Given the description of an element on the screen output the (x, y) to click on. 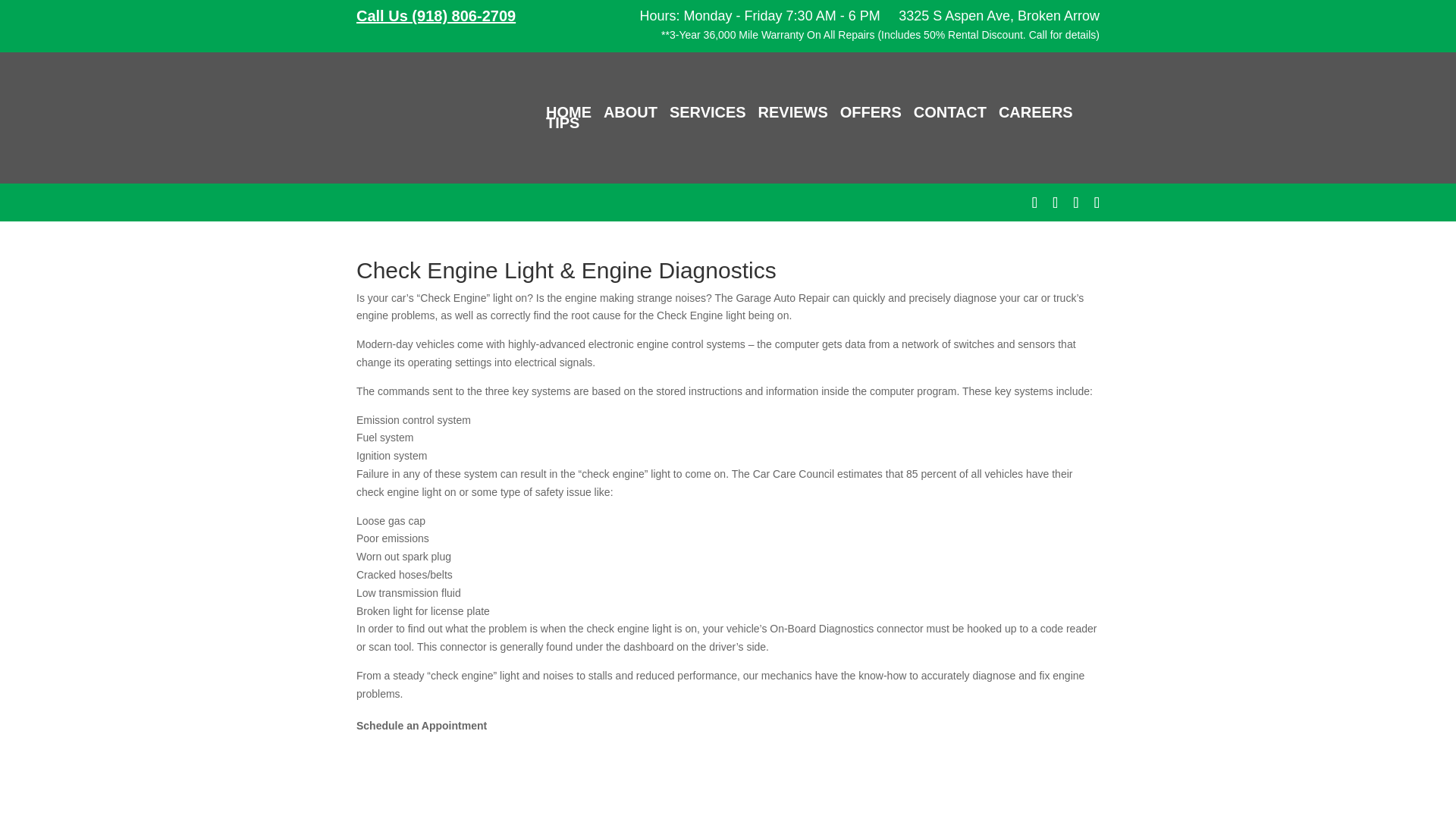
CAREERS (1035, 112)
TIPS (562, 122)
HOME (568, 112)
SERVICES (707, 112)
OFFERS (870, 112)
CONTACT (950, 112)
REVIEWS (793, 112)
ABOUT (631, 112)
